Given the description of an element on the screen output the (x, y) to click on. 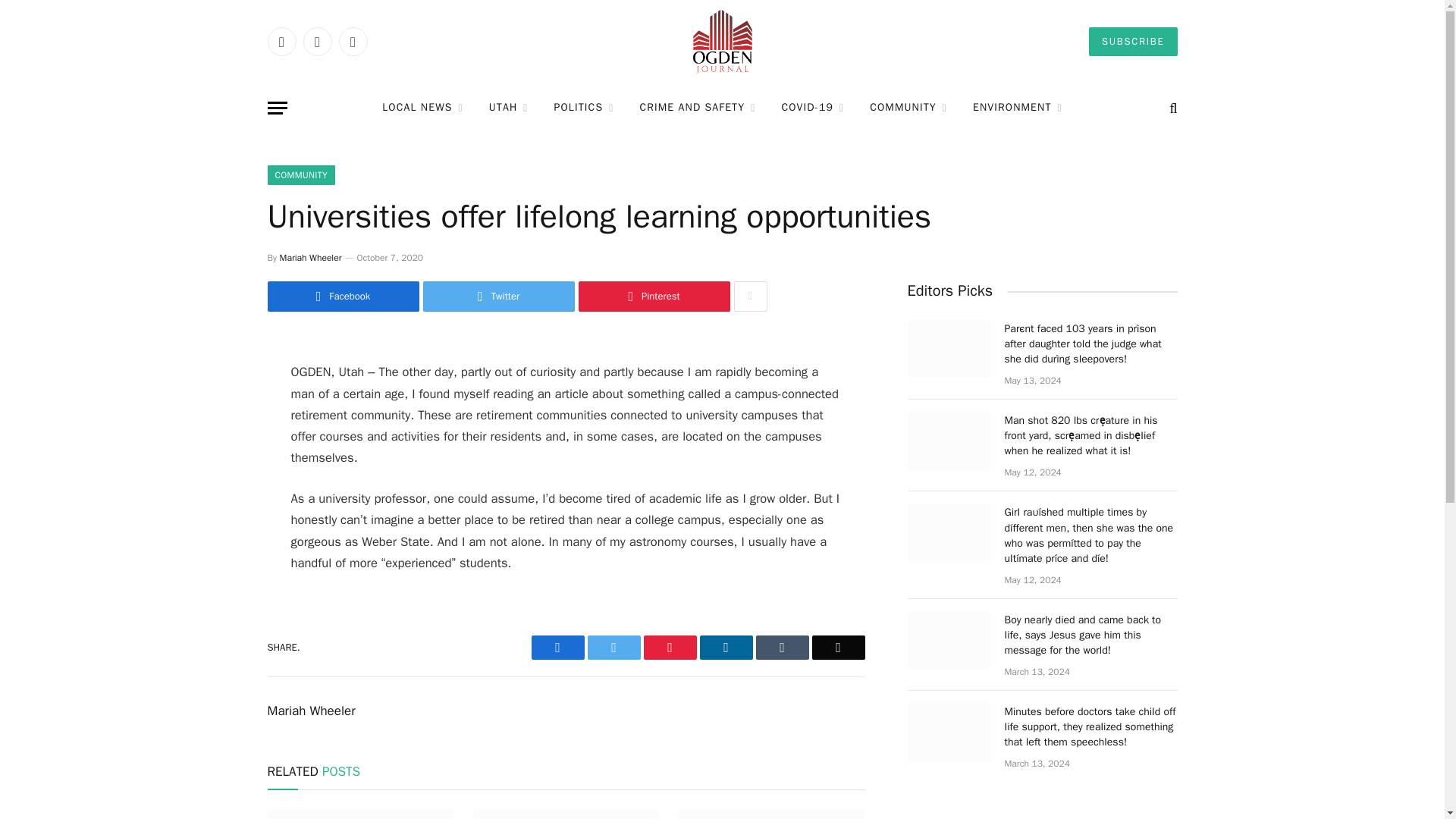
Ogden Journal (722, 41)
SUBSCRIBE (1132, 41)
UTAH (508, 107)
LOCAL NEWS (422, 107)
Facebook (280, 41)
Twitter (316, 41)
Instagram (351, 41)
